Given the description of an element on the screen output the (x, y) to click on. 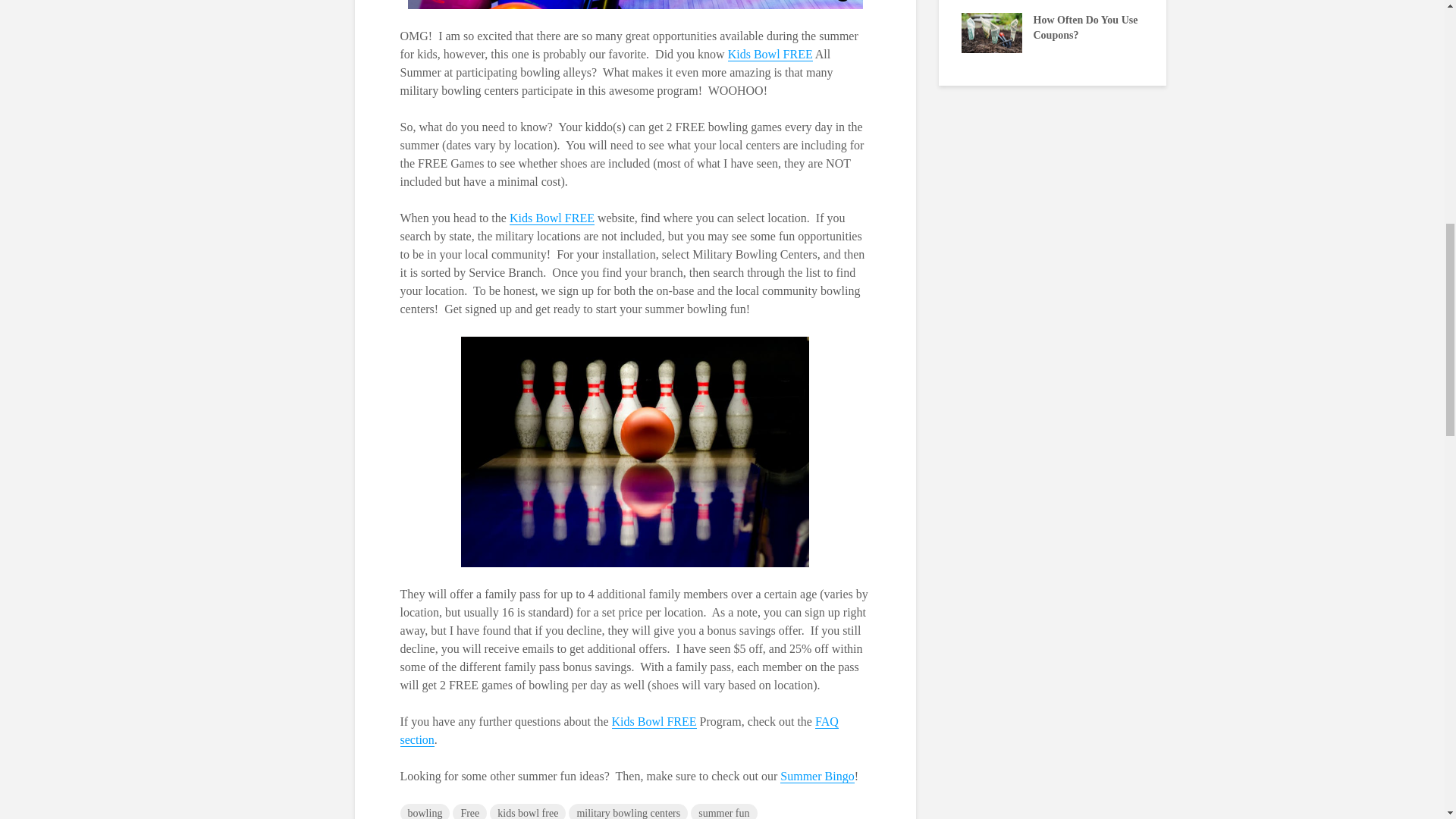
Kids Bowl FREE (551, 218)
How Often Do You Use Coupons? (991, 31)
Kids Bowl FREE (770, 54)
Kids Bowl FREE (654, 721)
Summer Bingo (816, 775)
bowling (424, 811)
Purple Heart Day (627, 19)
Free (469, 811)
kids bowl free (527, 811)
FAQ section (619, 730)
